Given the description of an element on the screen output the (x, y) to click on. 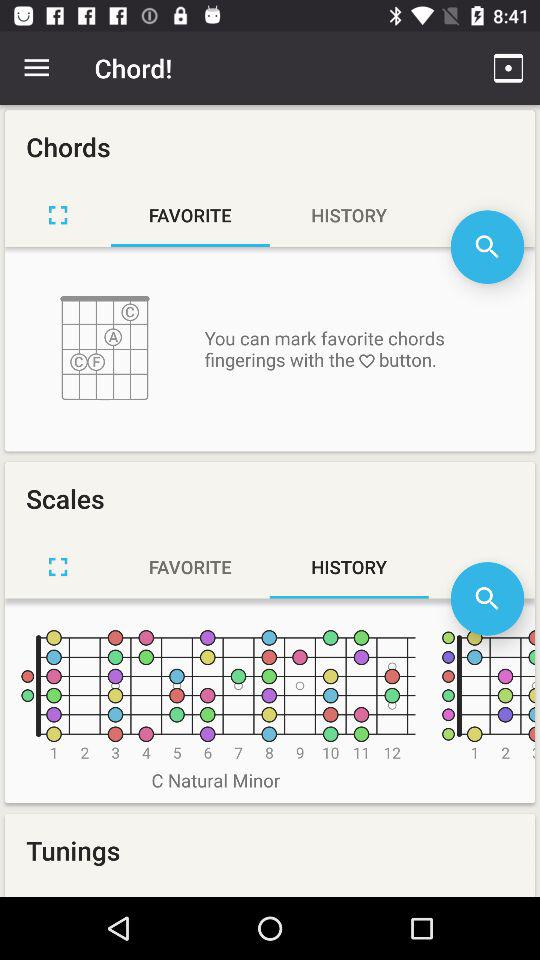
maximize page (58, 215)
